Given the description of an element on the screen output the (x, y) to click on. 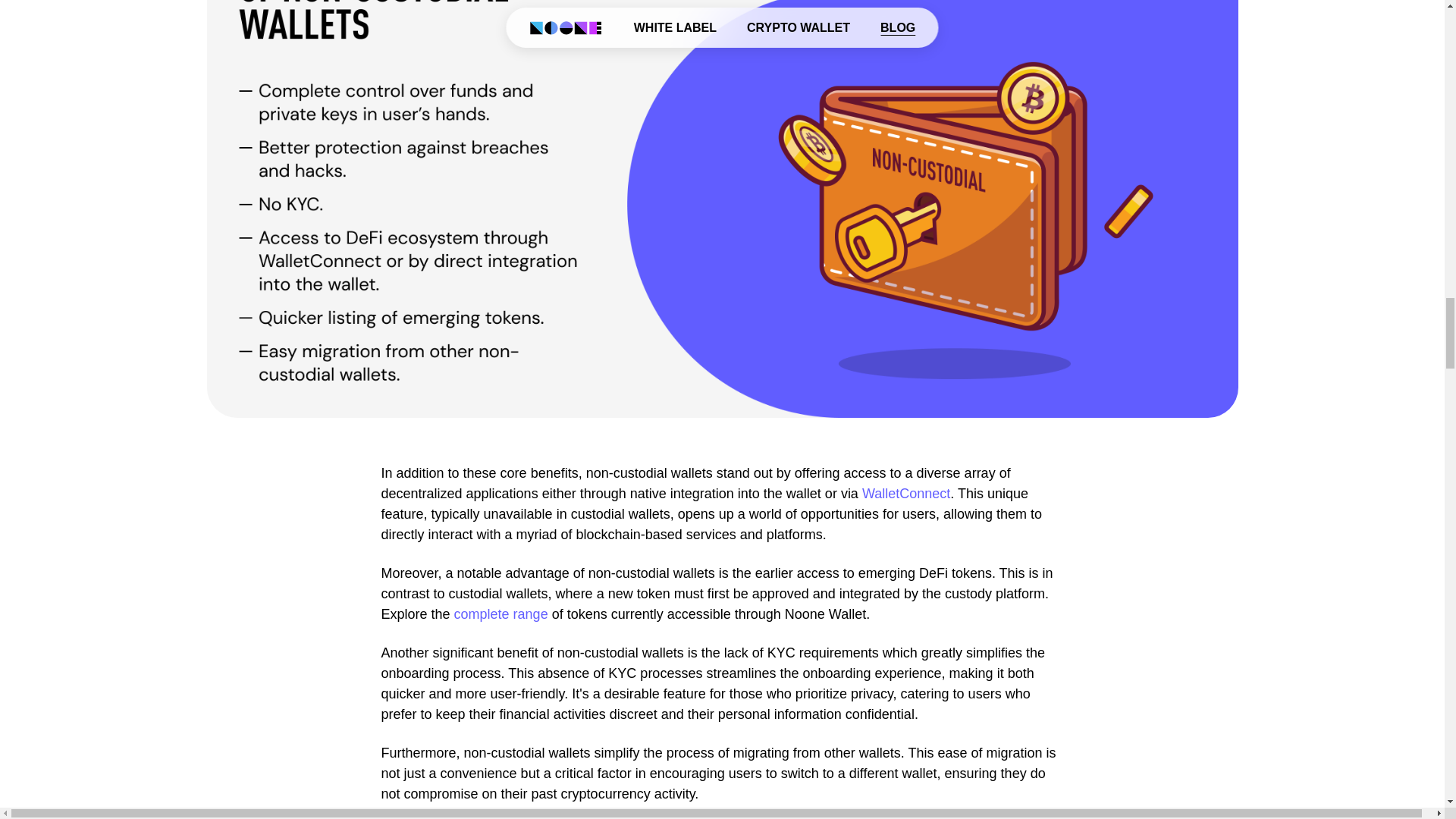
WalletConnect (905, 493)
complete range (501, 613)
